Given the description of an element on the screen output the (x, y) to click on. 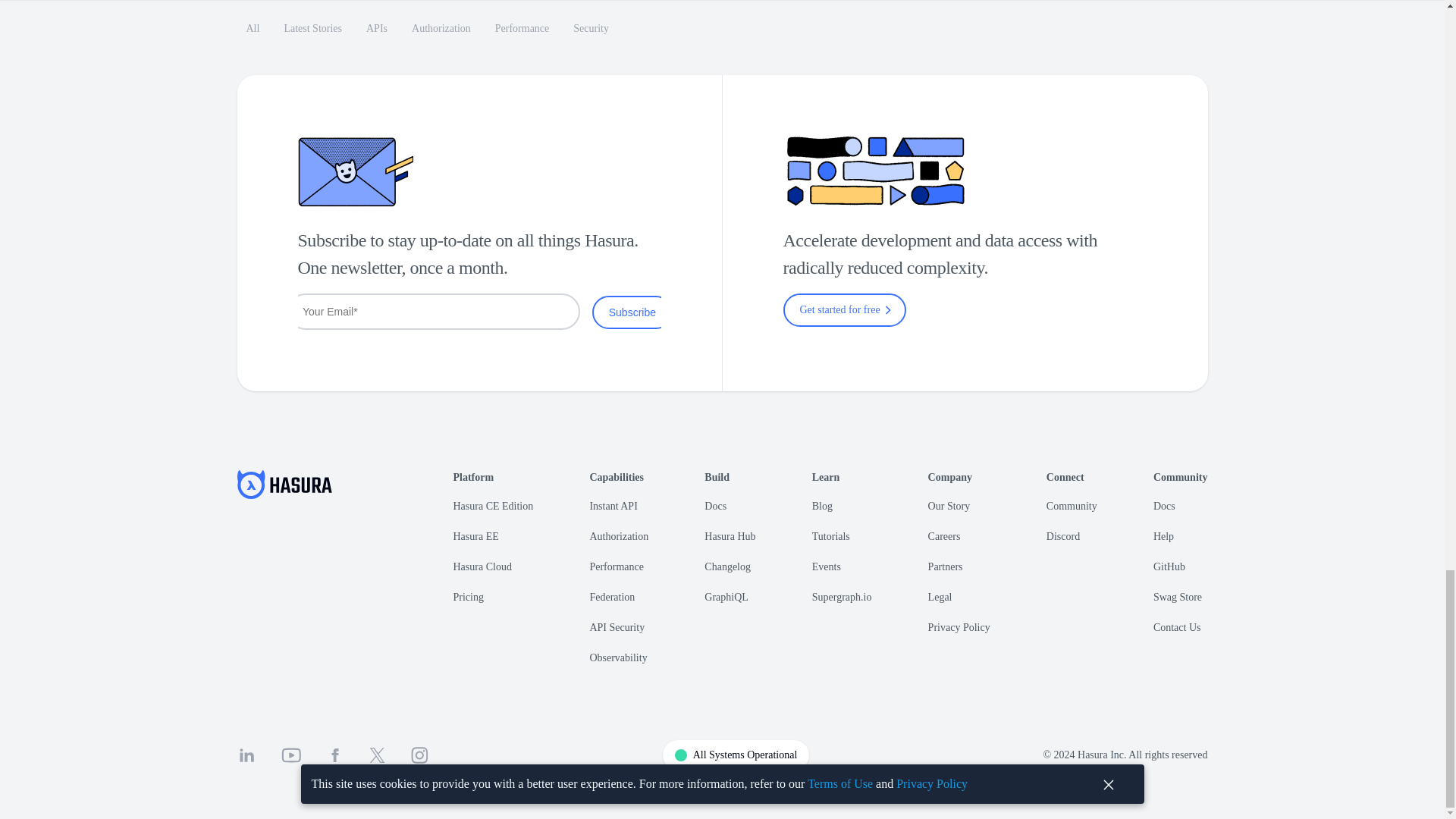
Embedded form (479, 311)
